Given the description of an element on the screen output the (x, y) to click on. 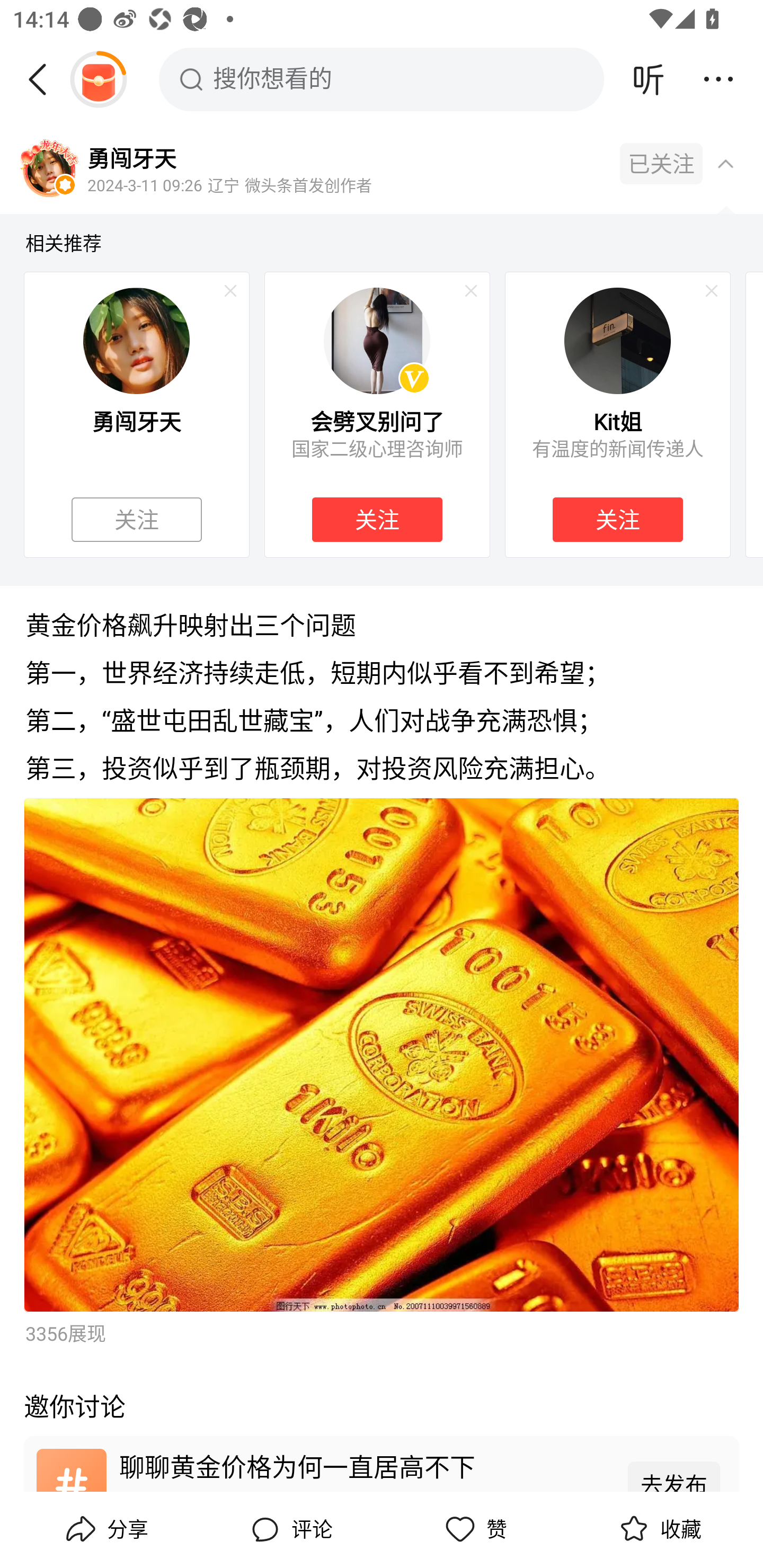
返回 (44, 78)
听头条 (648, 78)
更多操作 (718, 78)
搜你想看的 搜索框，搜你想看的 (381, 79)
阅读赚金币 (98, 79)
勇闯牙天 (131, 157)
已关注 (660, 163)
勇闯牙天头像 (48, 169)
折叠相关作者推荐 (725, 162)
勇闯牙天头像 勇闯牙天 关注 关注 不感兴趣 (136, 414)
不感兴趣 (230, 290)
会劈叉别问了头像 会劈叉别问了 国家二级心理咨询师 关注 关注 不感兴趣 (376, 414)
不感兴趣 (470, 290)
Kit姐头像 Kit姐 有温度的新闻传递人 关注 关注 不感兴趣 (617, 414)
不感兴趣 (711, 290)
勇闯牙天头像 (136, 339)
会劈叉别问了头像 (376, 339)
Kit姐头像 (617, 339)
关注 (136, 519)
关注 (377, 519)
关注 (617, 519)
内容图片 (381, 1055)
聊聊黄金价格为何一直居高不下:说说你的看法::按钮 (381, 1463)
分享 (104, 1529)
评论, 评论 (288, 1529)
,收藏 收藏 (658, 1529)
